Given the description of an element on the screen output the (x, y) to click on. 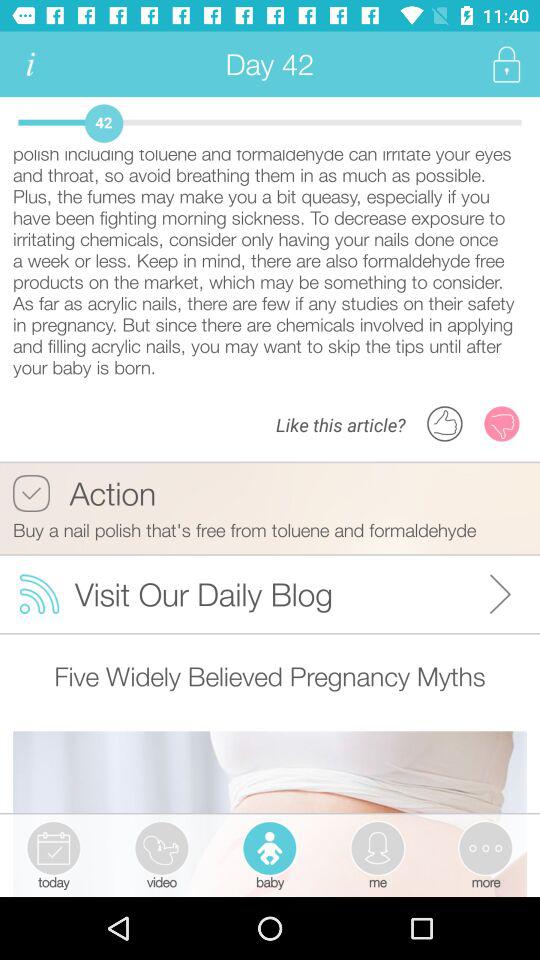
open icon below the thanks to your item (84, 493)
